Given the description of an element on the screen output the (x, y) to click on. 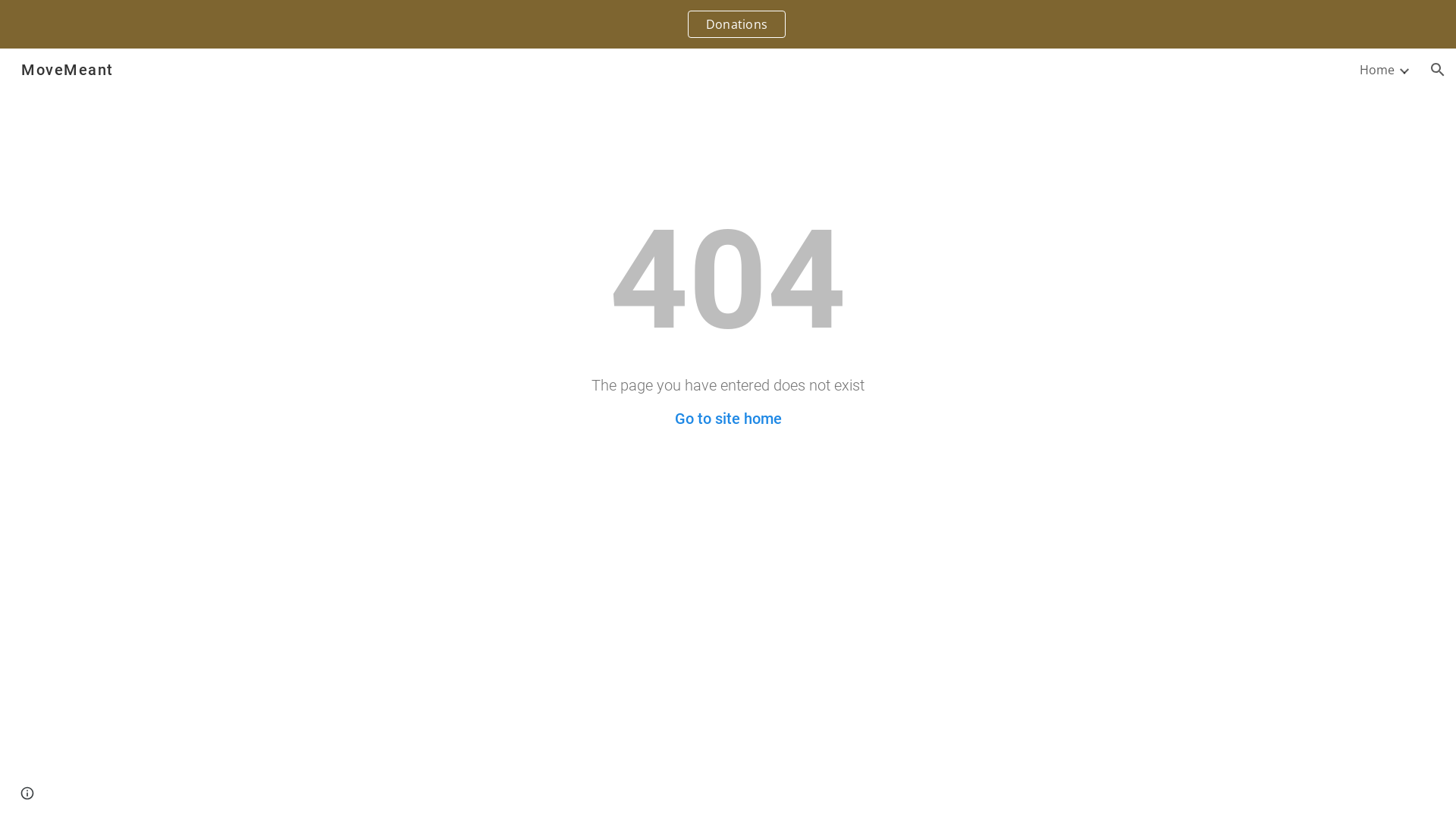
MoveMeant Element type: text (67, 68)
Expand/Collapse Element type: hover (1403, 69)
Donations Element type: text (736, 24)
Go to site home Element type: text (727, 418)
Home Element type: text (1376, 69)
